Given the description of an element on the screen output the (x, y) to click on. 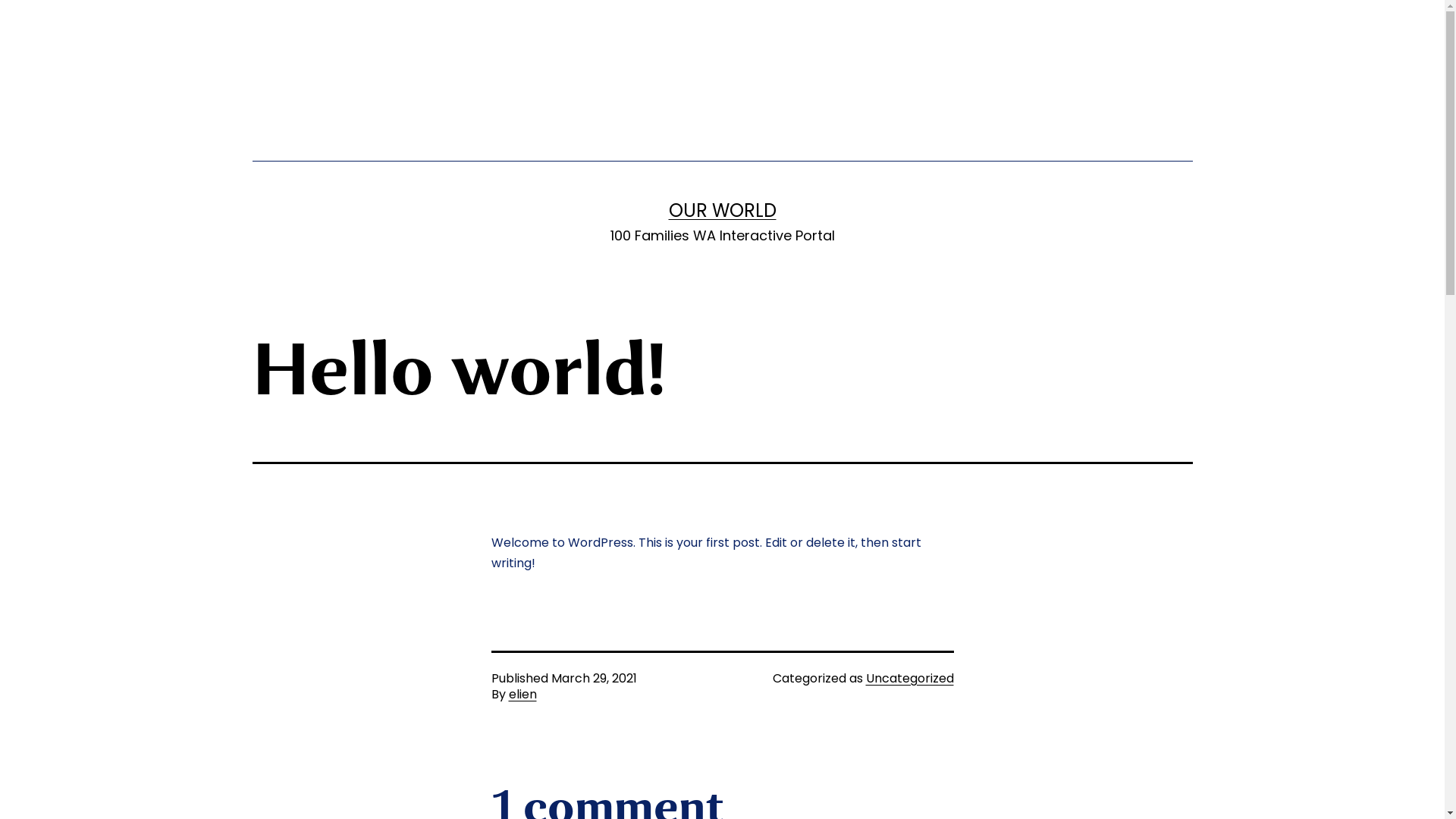
Uncategorized Element type: text (909, 678)
elien Element type: text (522, 693)
OUR WORLD Element type: text (722, 209)
